Given the description of an element on the screen output the (x, y) to click on. 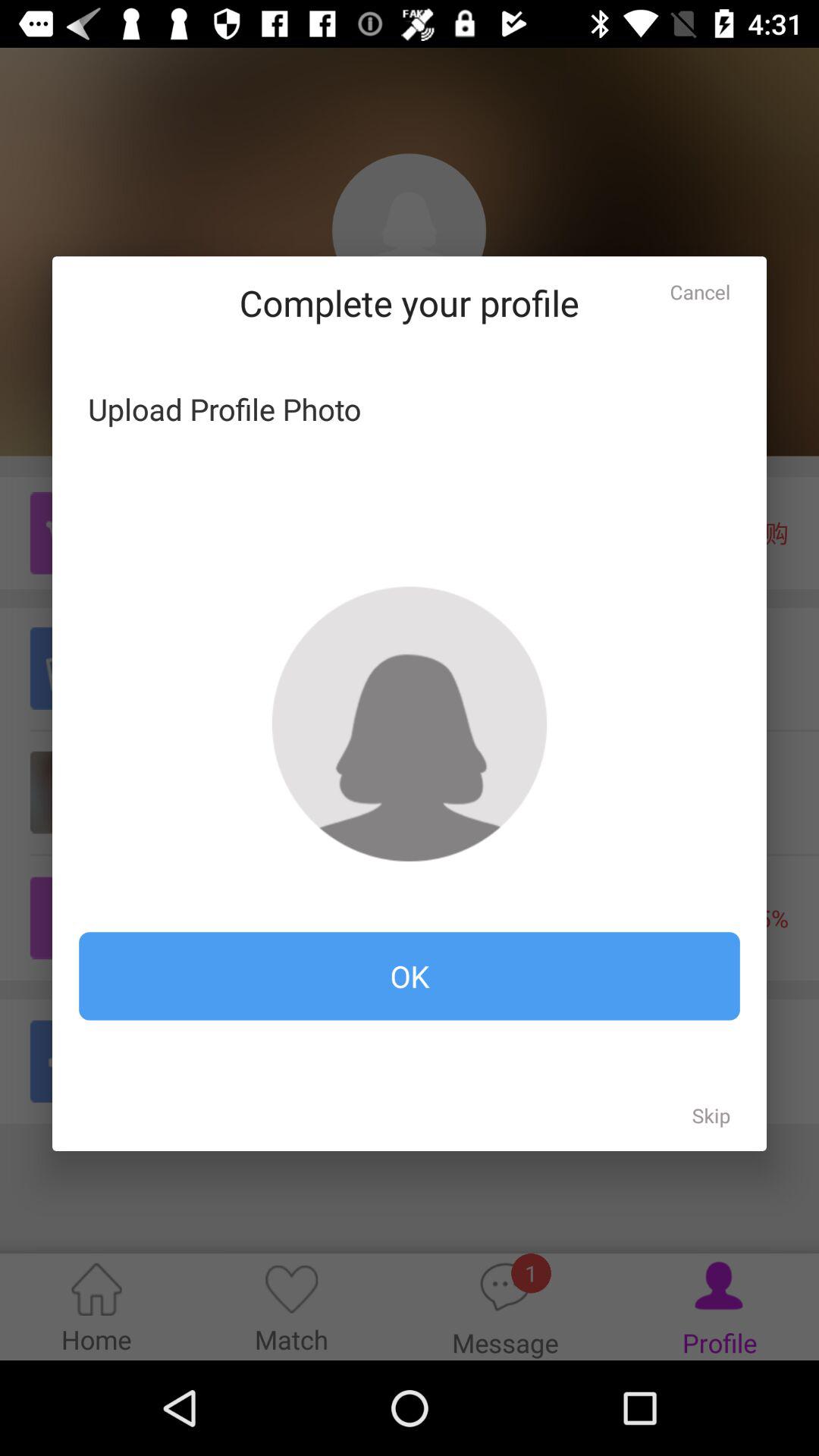
flip until cancel (700, 291)
